Given the description of an element on the screen output the (x, y) to click on. 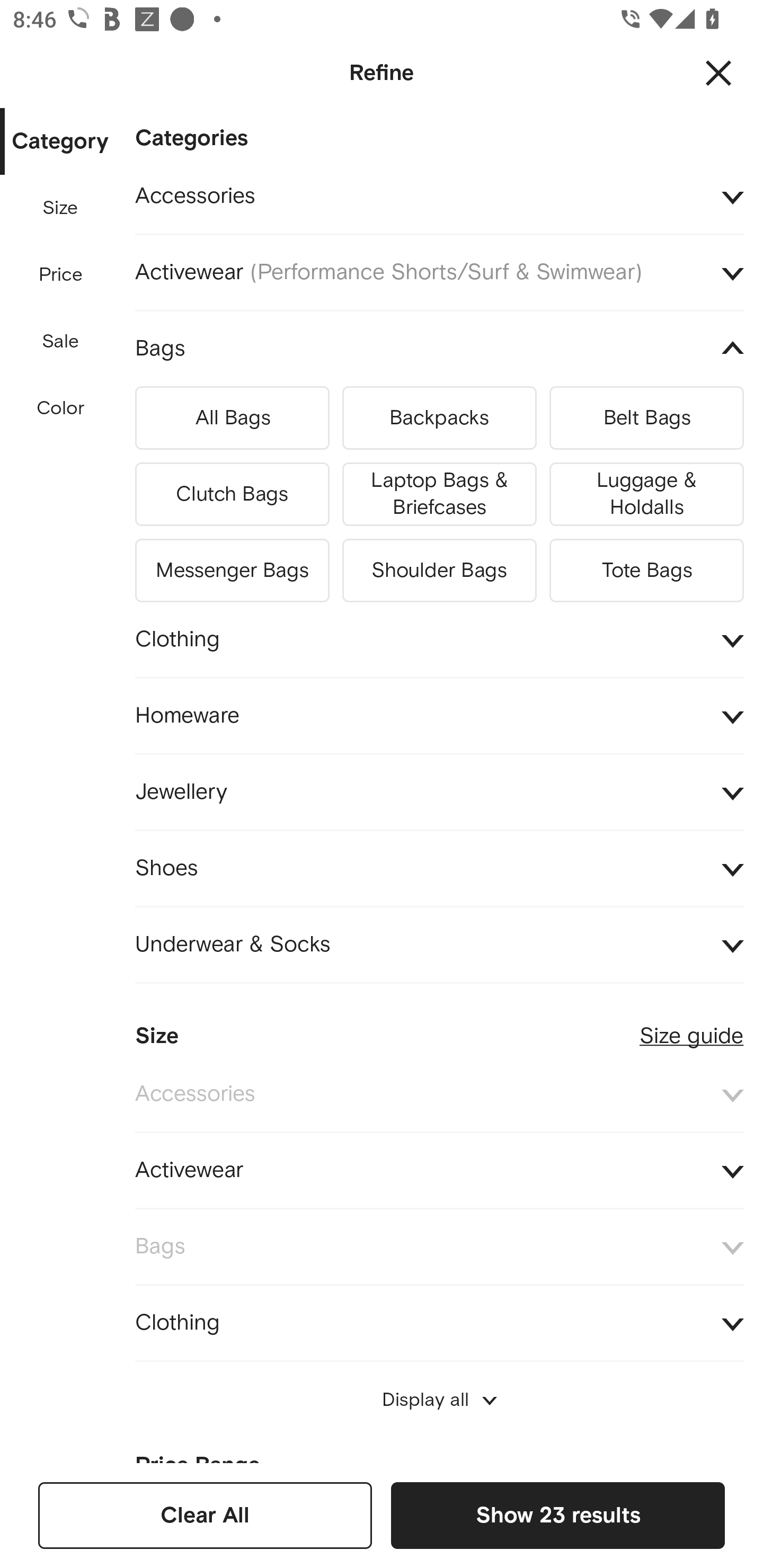
Category (60, 141)
Accessories (439, 196)
Size (60, 208)
Activewear (Performance Shorts/Surf & Swimwear) (439, 272)
Price (60, 274)
Sale (60, 342)
Bags (439, 348)
Color (60, 408)
All Bags (232, 417)
Backpacks (439, 417)
Belt Bags (646, 417)
Clutch Bags (232, 494)
Laptop Bags & Briefcases (439, 494)
Luggage & Holdalls (646, 494)
Messenger Bags (232, 567)
Shoulder Bags (439, 567)
Tote Bags (646, 567)
Clothing (439, 639)
Homeware (439, 715)
Jewellery (439, 792)
Shoes (439, 868)
Underwear & Socks (439, 944)
Size guide (691, 1028)
Accessories (439, 1094)
Activewear (439, 1170)
Bags (439, 1246)
Clothing (439, 1323)
Display all (439, 1399)
Clear All (205, 1515)
Show 23 results (557, 1515)
